Given the description of an element on the screen output the (x, y) to click on. 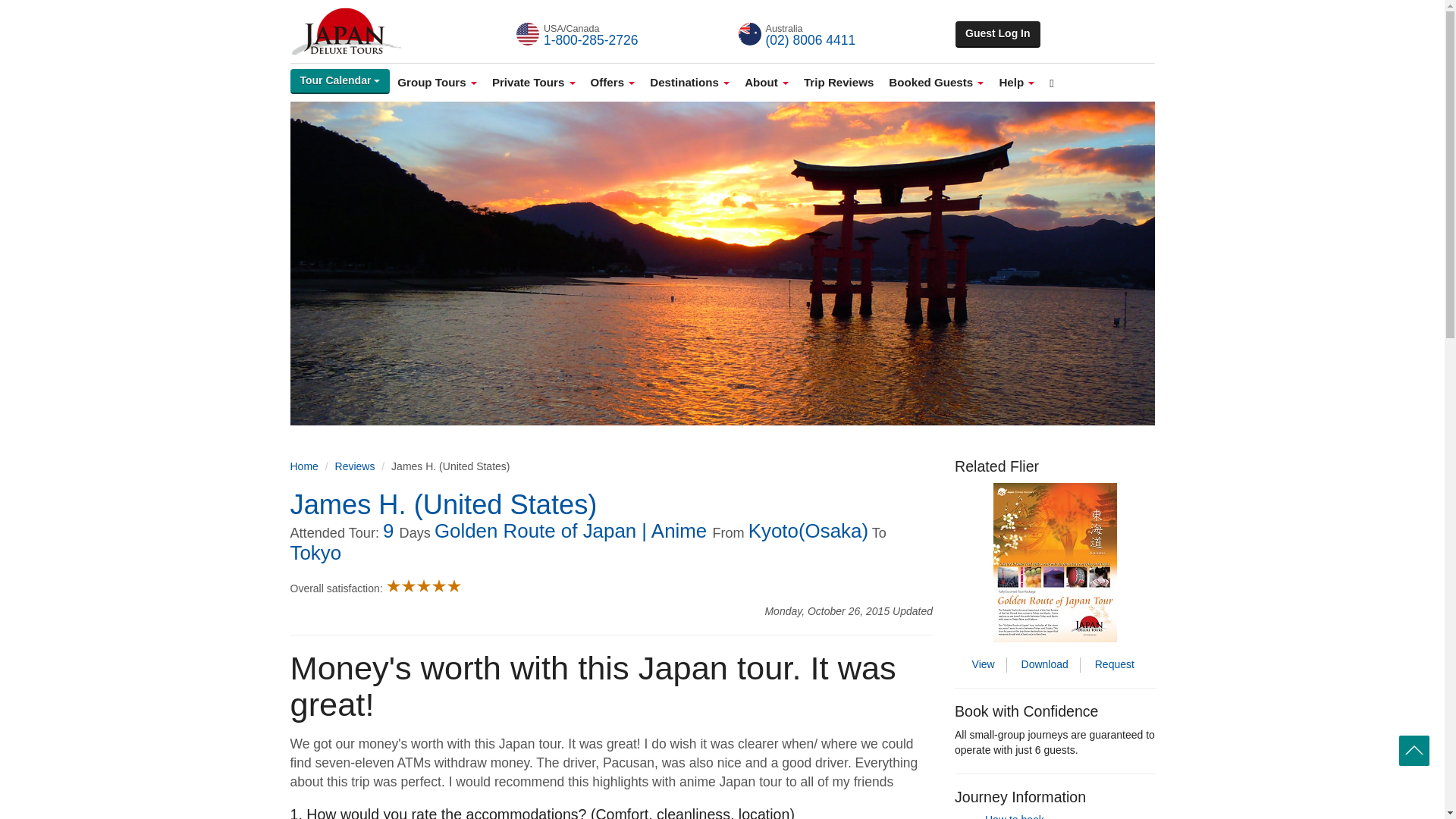
Private Tours (533, 82)
Destinations (689, 82)
Tour Calendar (339, 81)
Offers (613, 82)
About (766, 82)
Group Tours (437, 82)
Guest Log In (998, 34)
